Given the description of an element on the screen output the (x, y) to click on. 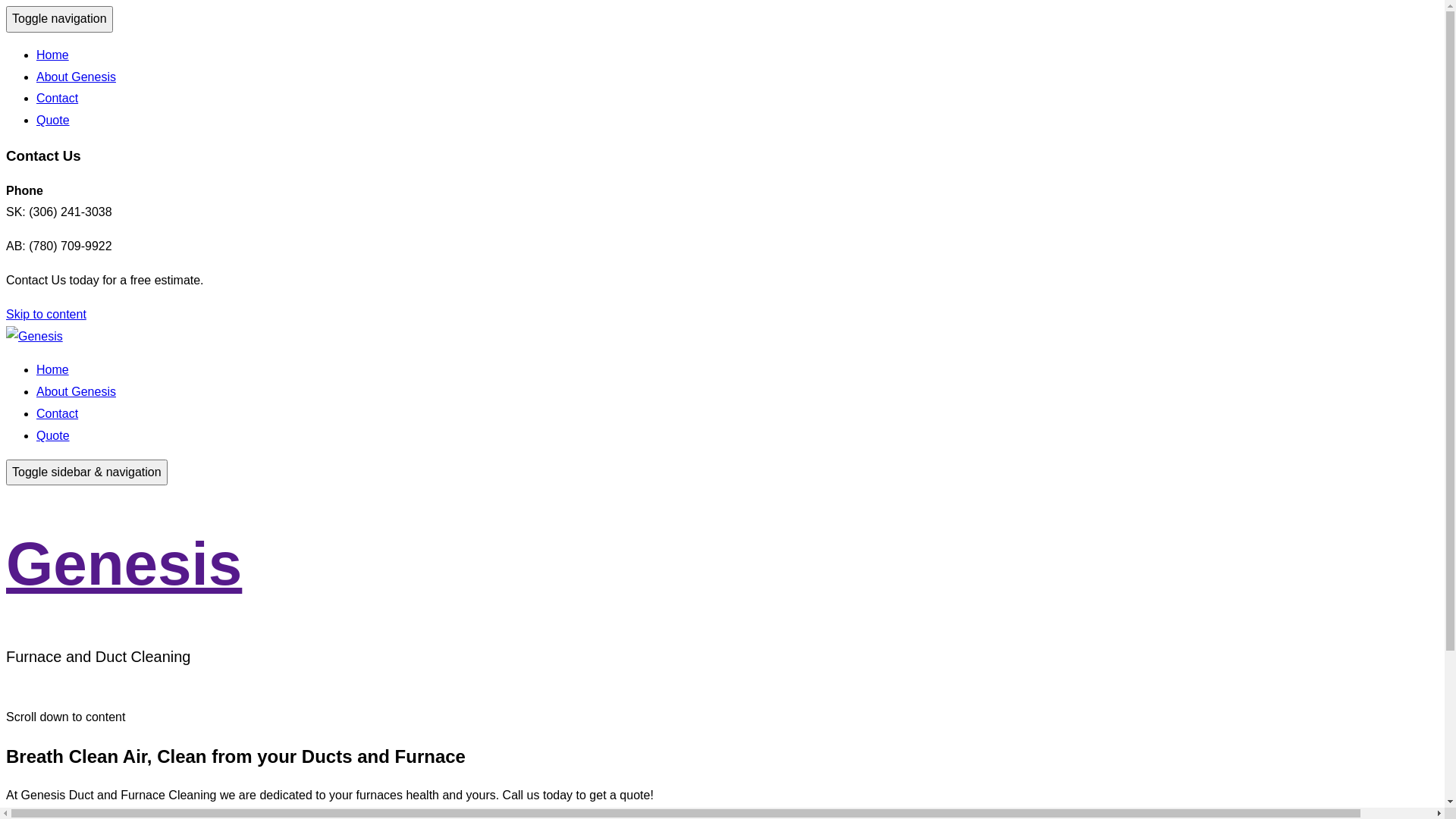
Toggle sidebar & navigation Element type: text (86, 472)
Quote Element type: text (52, 435)
Contact Element type: text (57, 413)
Genesis Element type: text (123, 563)
Home Element type: text (52, 369)
Toggle navigation Element type: text (59, 19)
Skip to content Element type: text (46, 313)
Home Element type: text (52, 54)
Contact Element type: text (57, 97)
About Genesis Element type: text (76, 391)
Quote Element type: text (52, 119)
About Genesis Element type: text (76, 76)
